Given the description of an element on the screen output the (x, y) to click on. 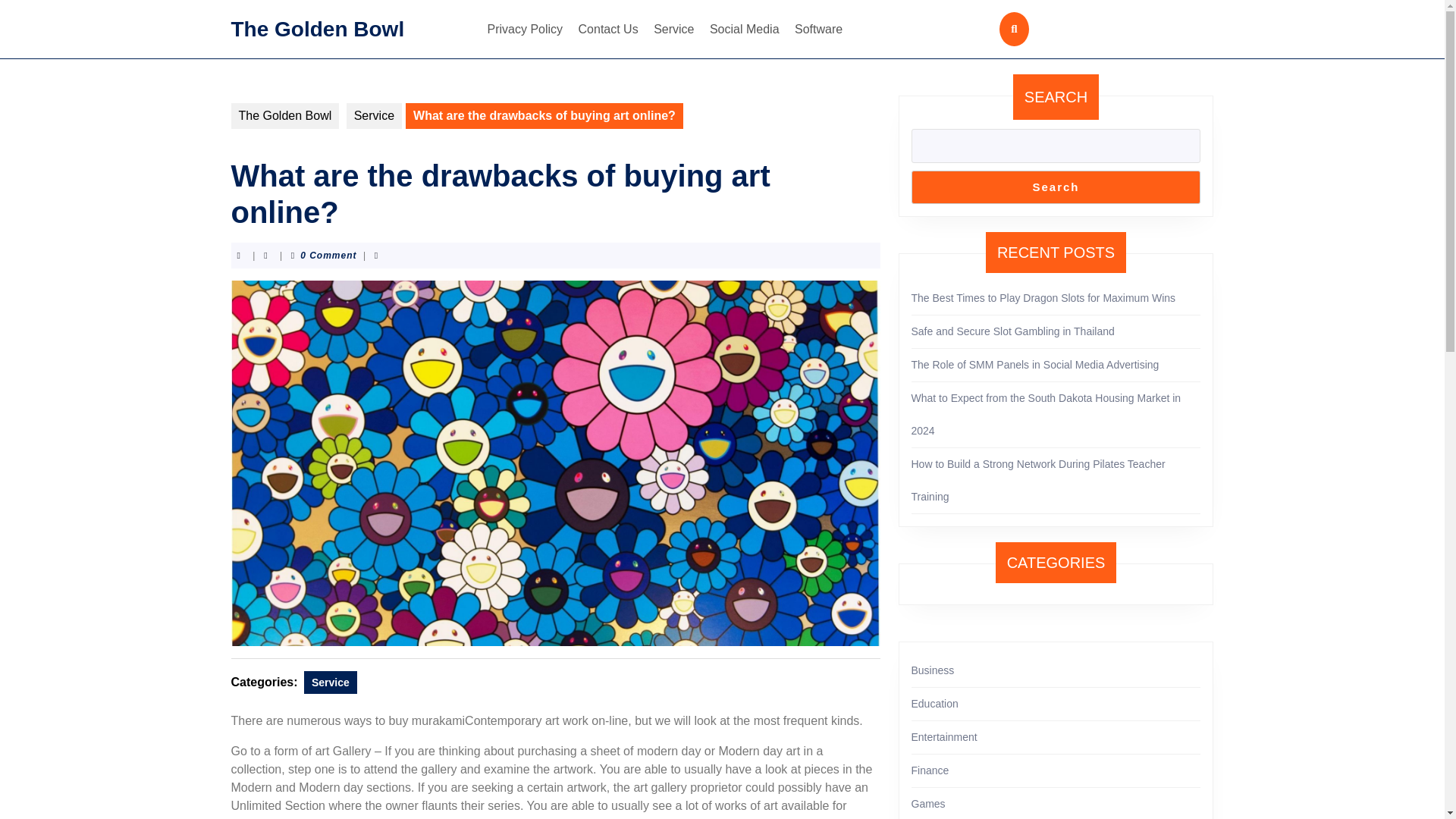
buy sorayama (553, 818)
Safe and Secure Slot Gambling in Thailand (1013, 331)
The Role of SMM Panels in Social Media Advertising (1034, 364)
Service (330, 681)
The Best Times to Play Dragon Slots for Maximum Wins (1043, 297)
Service (673, 28)
Service (373, 115)
What to Expect from the South Dakota Housing Market in 2024 (1045, 414)
Search (1056, 186)
Contact Us (608, 28)
Education (934, 703)
The Golden Bowl (284, 115)
Software (818, 28)
Business (933, 670)
